Given the description of an element on the screen output the (x, y) to click on. 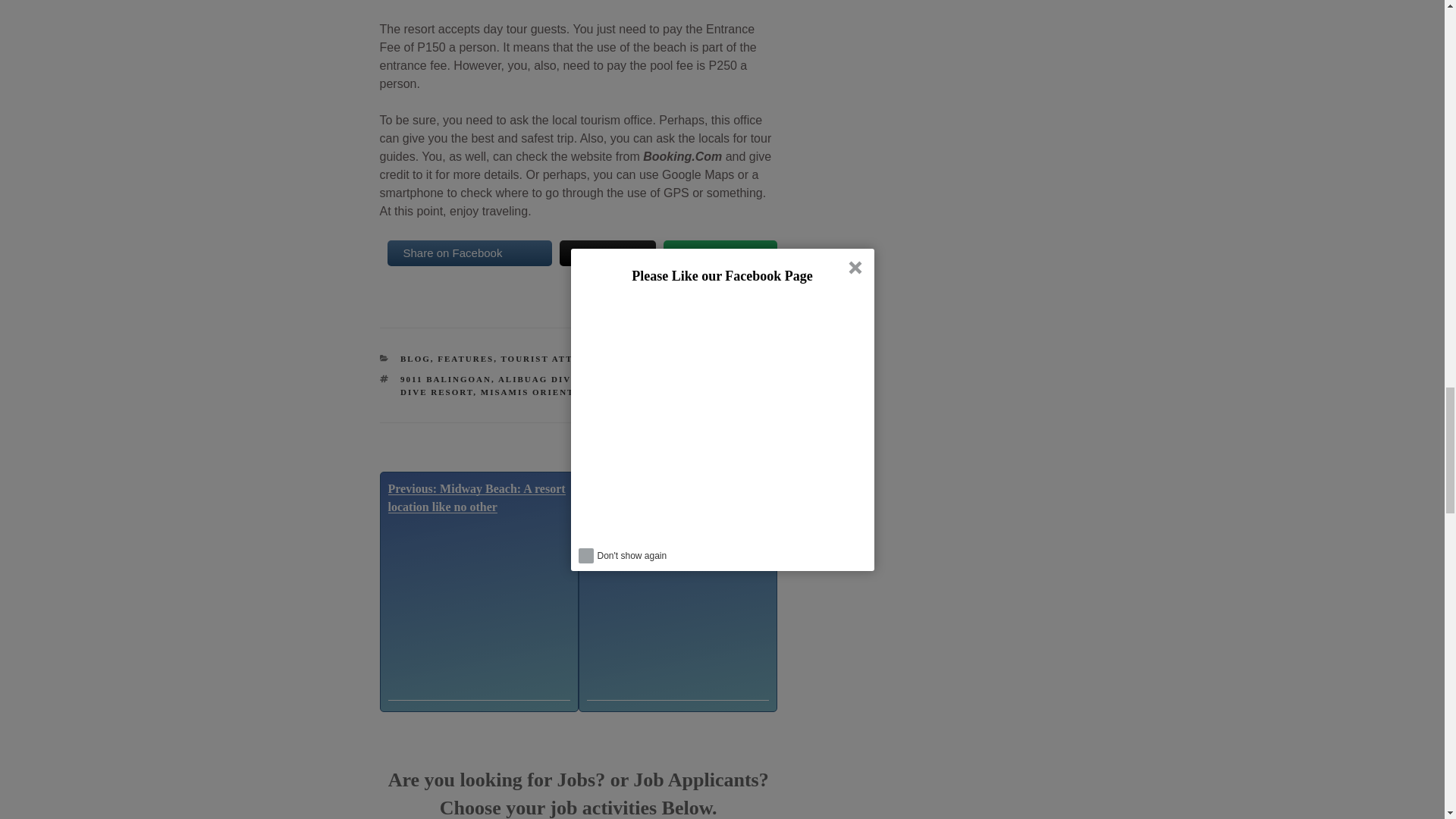
ALIBUAG DIVE RESORT (560, 379)
9011 BALINGOAN (446, 379)
PHILIPPINES (630, 391)
Tweet (607, 253)
MANTANGALE ALIBUAG DIVE RESORT (580, 385)
BLOG (415, 358)
Follow us (720, 253)
FEATURES (465, 358)
MISAMIS ORIENTAL (534, 391)
Share on Facebook (469, 253)
TOURIST ATTRACTION (561, 358)
